Given the description of an element on the screen output the (x, y) to click on. 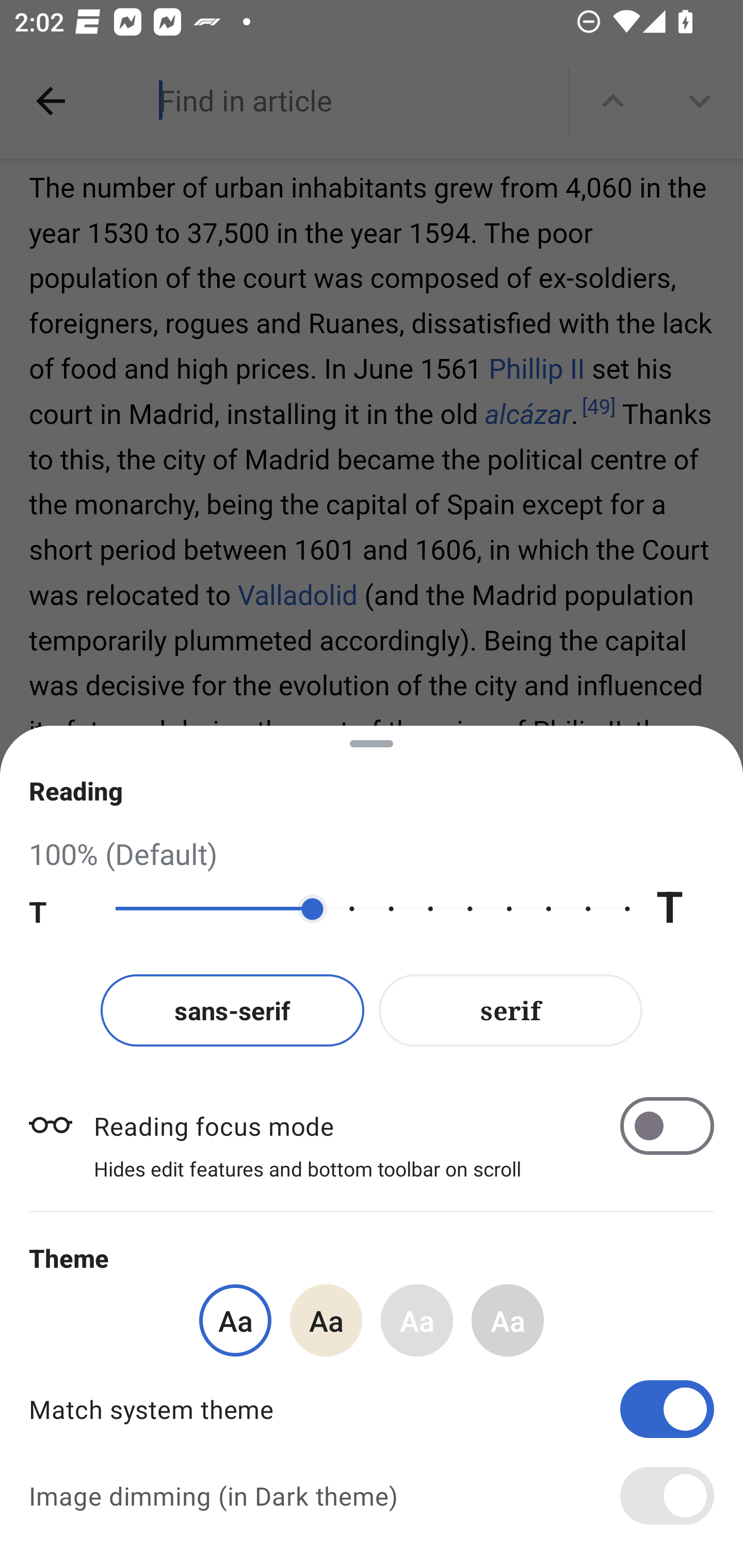
T Decrease text size (57, 909)
T Increase text size (685, 909)
sans-serif (232, 1010)
serif (510, 1010)
Reading focus mode (403, 1125)
Aa (235, 1320)
Aa (325, 1320)
Aa (416, 1320)
Aa (507, 1320)
Match system theme (371, 1408)
Image dimming (in Dark theme) (371, 1495)
